Given the description of an element on the screen output the (x, y) to click on. 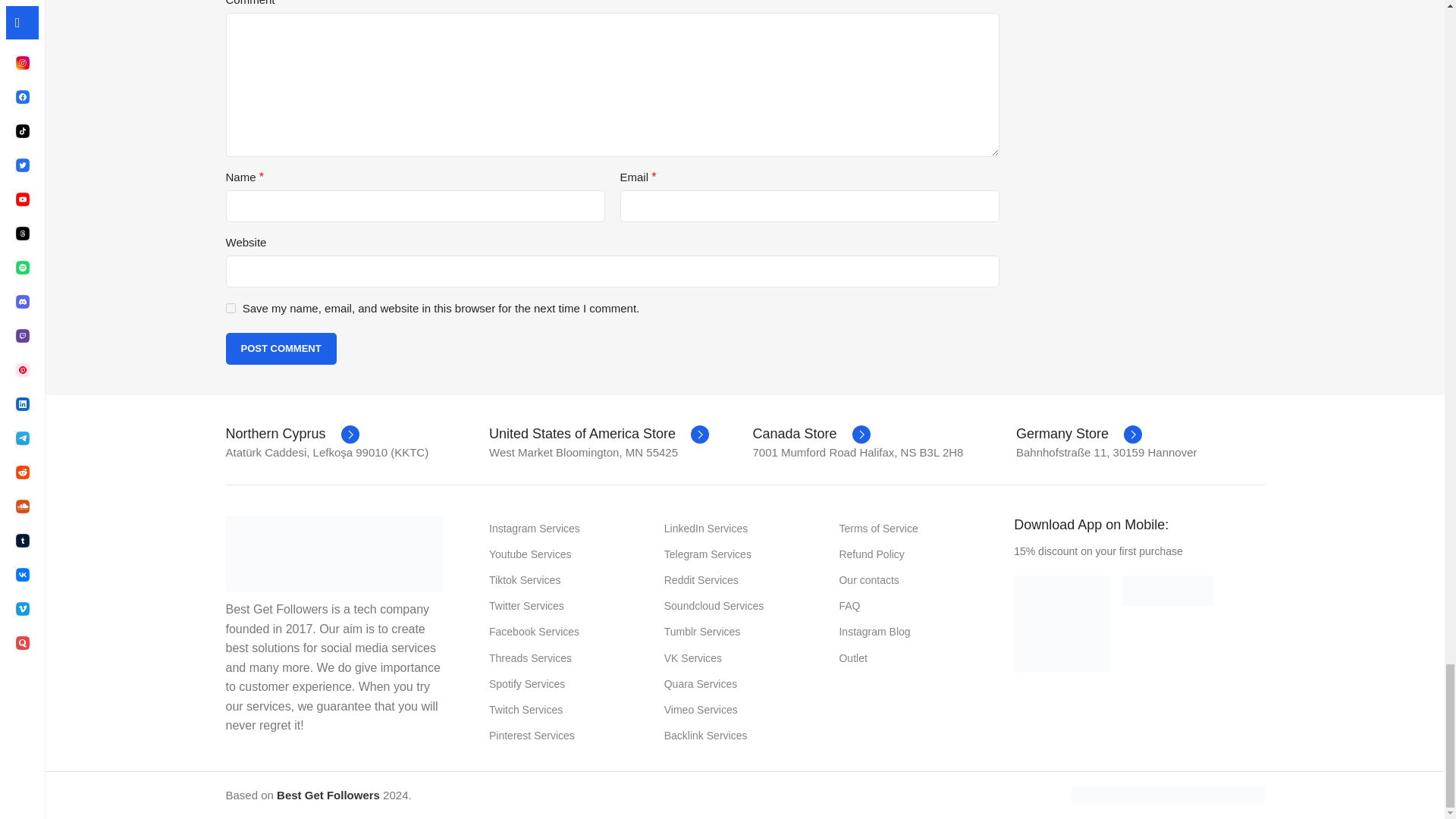
google-play (1061, 623)
yes (230, 307)
app-store (1167, 590)
Post Comment (280, 348)
